Given the description of an element on the screen output the (x, y) to click on. 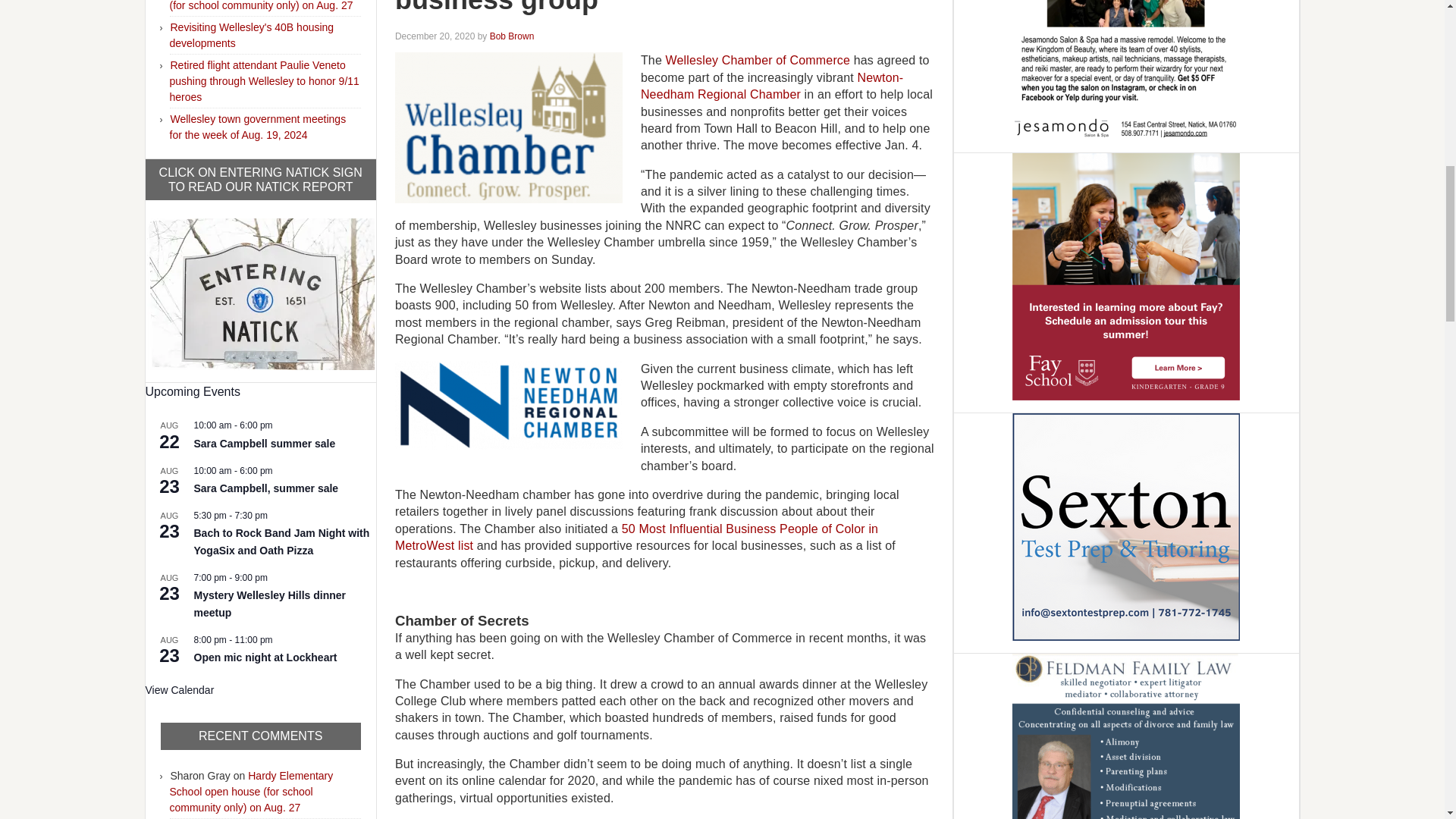
Bach to Rock Band Jam Night with YogaSix and Oath Pizza (281, 542)
Bob Brown (511, 36)
Wellesley Chamber of Commerce (757, 60)
View more events. (179, 689)
Mystery Wellesley Hills dinner meetup (269, 603)
Sara Campbell, summer sale (266, 488)
Revisiting Wellesley's 40B housing developments (252, 35)
Sara Campbell summer sale (264, 443)
